Given the description of an element on the screen output the (x, y) to click on. 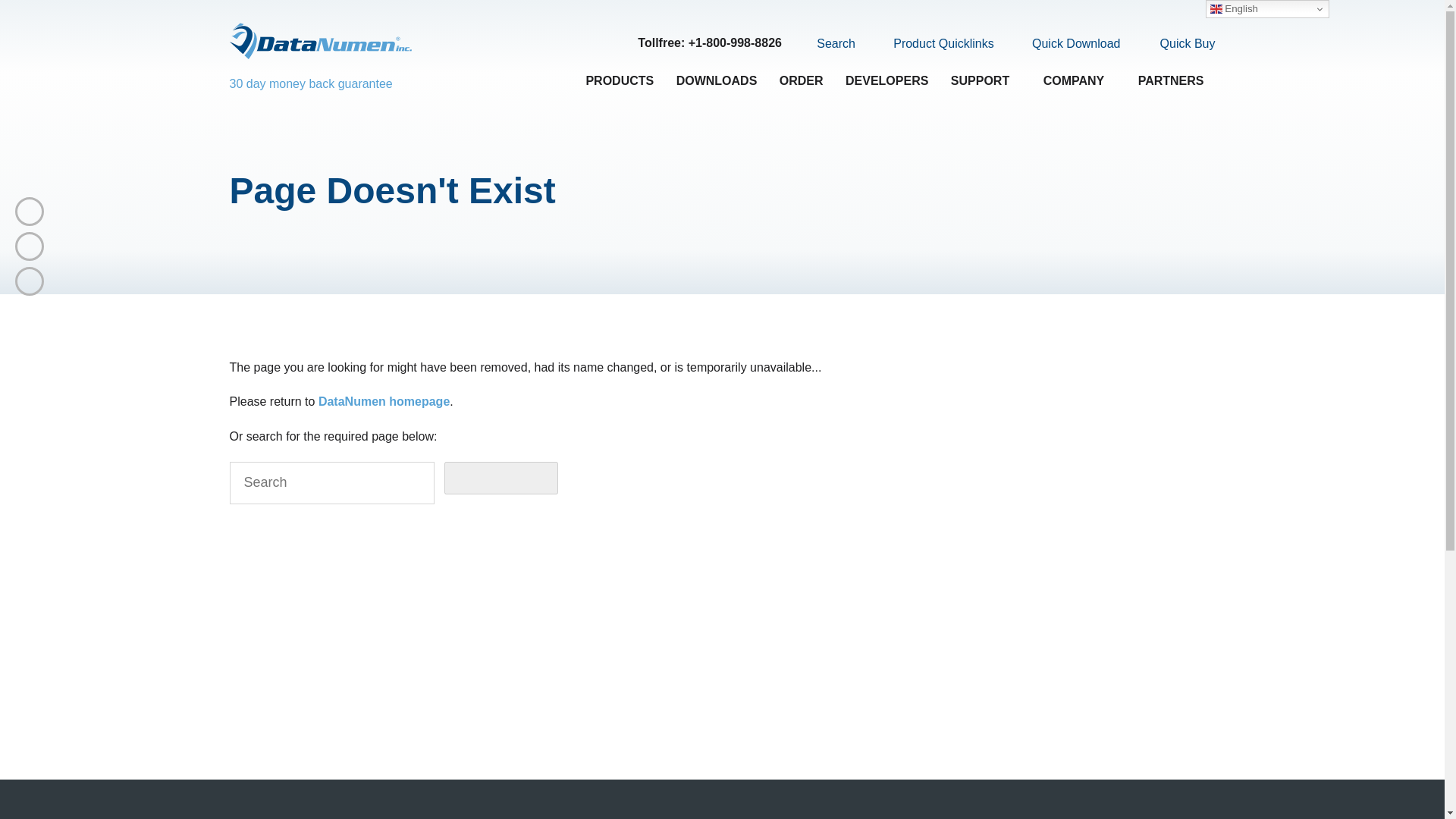
Search for: (330, 482)
Product Quicklinks (934, 44)
Quick Download (1066, 44)
Search (827, 43)
